Given the description of an element on the screen output the (x, y) to click on. 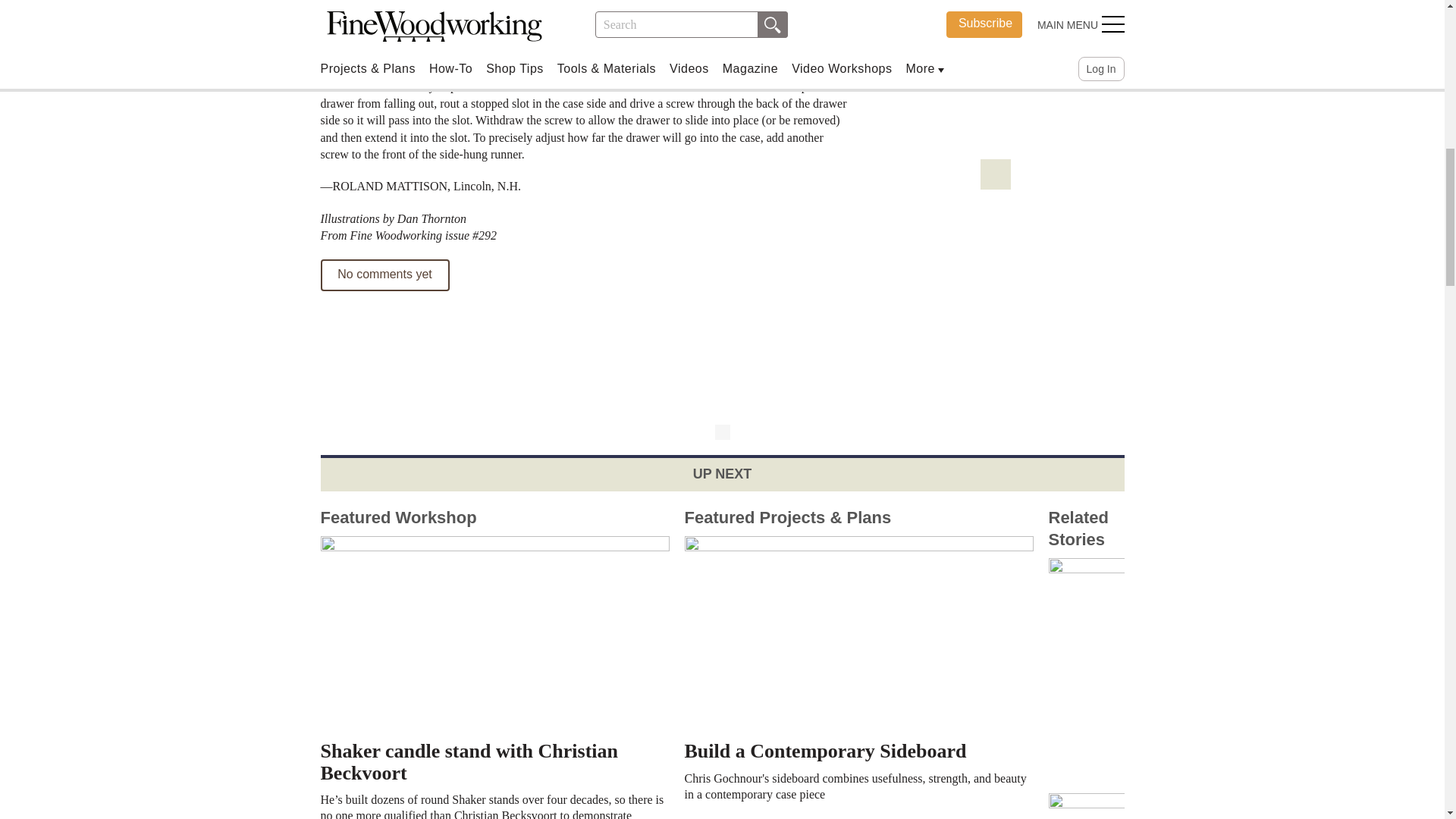
Shaker candle stand with Christian Beckvoort (494, 659)
No comments yet (384, 275)
Build a Contemporary Sideboard (858, 648)
